Given the description of an element on the screen output the (x, y) to click on. 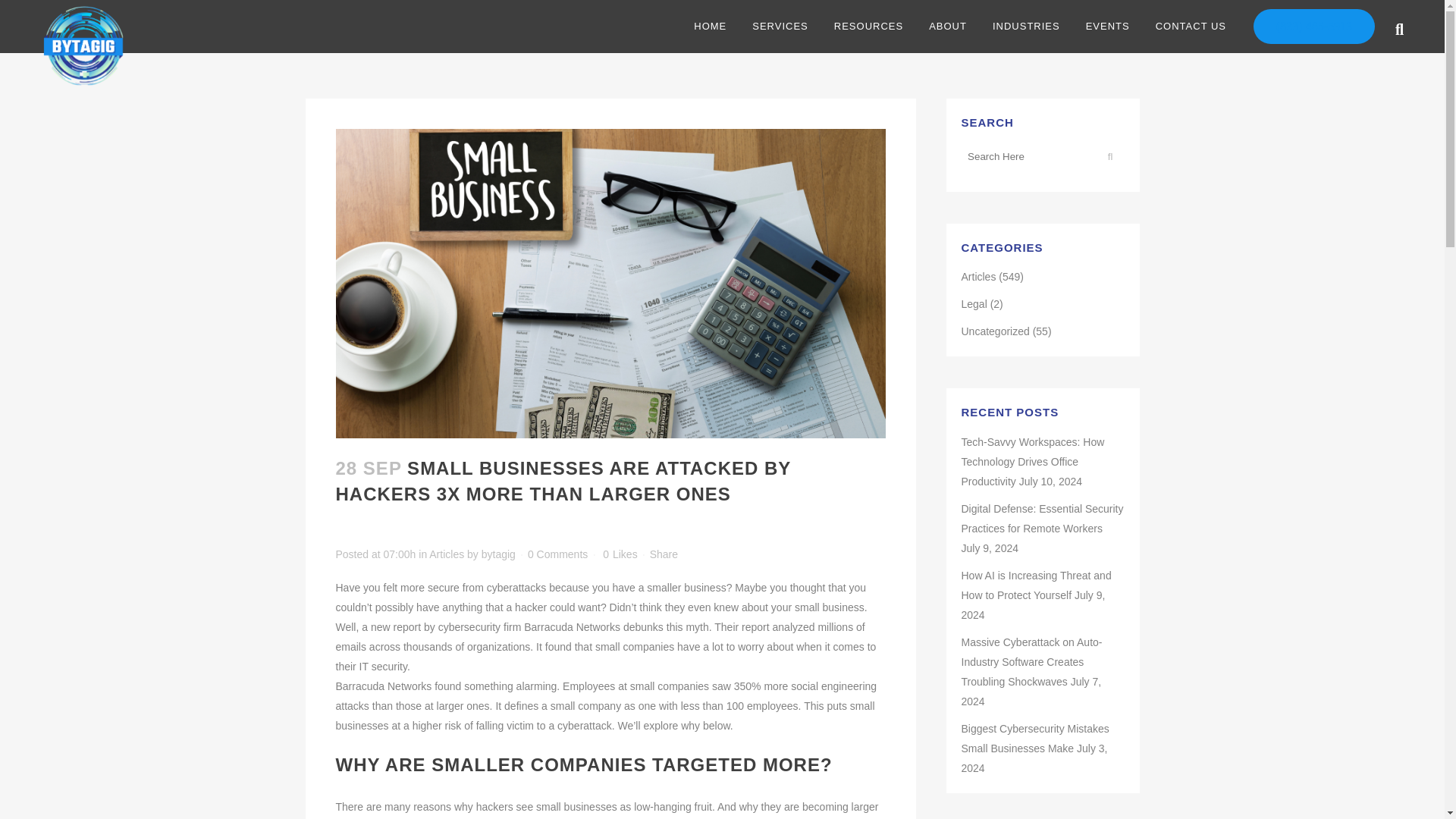
INDUSTRIES (1026, 26)
ABOUT (947, 26)
Like this (619, 553)
RESOURCES (868, 26)
CONTACT US (1190, 26)
HOME (710, 26)
SERVICES (780, 26)
EVENTS (1107, 26)
